Given the description of an element on the screen output the (x, y) to click on. 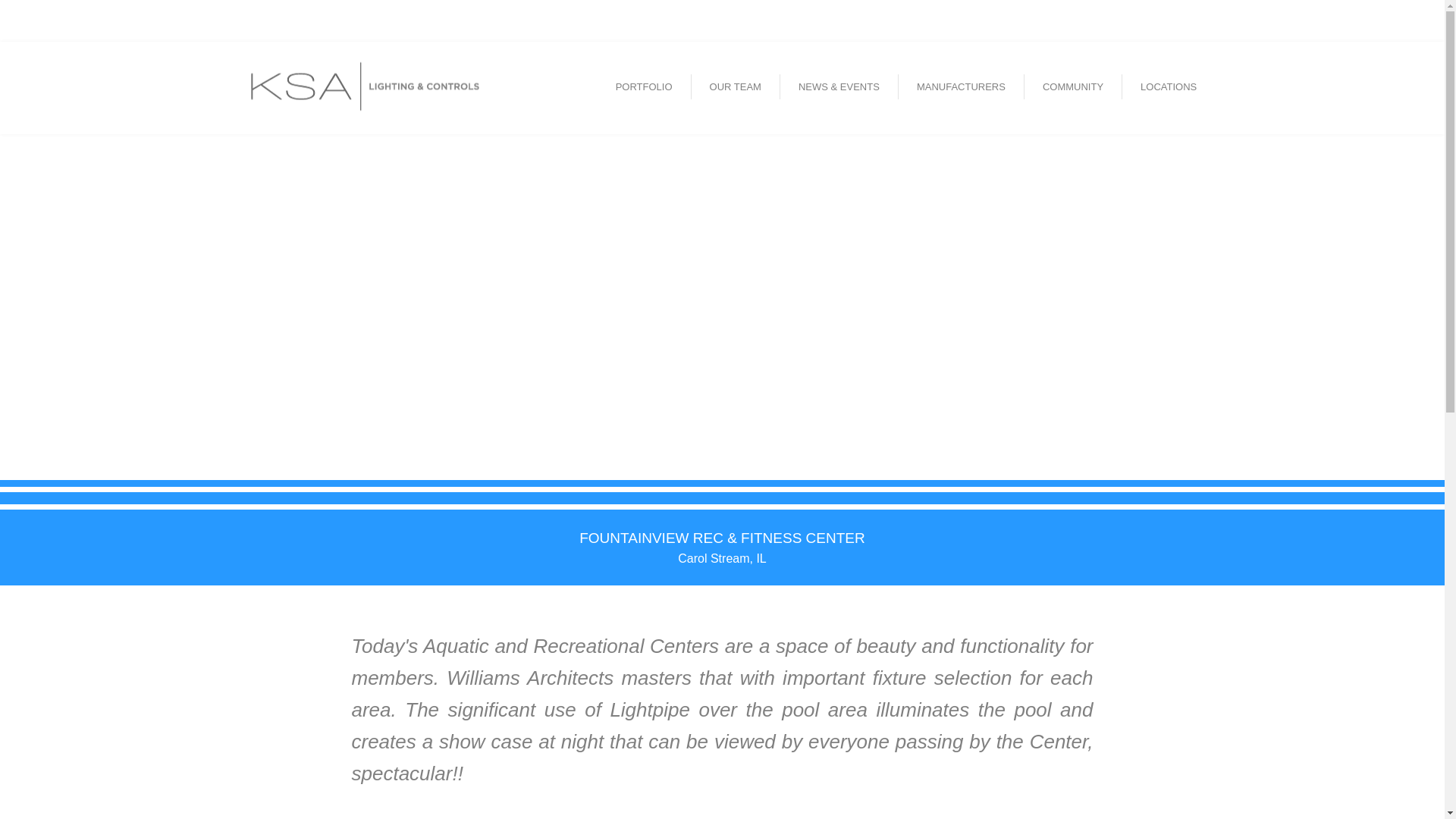
OUR TEAM (735, 86)
COMMUNITY (1072, 86)
MANUFACTURERS (961, 86)
PORTFOLIO (643, 86)
LOCATIONS (1168, 86)
